Given the description of an element on the screen output the (x, y) to click on. 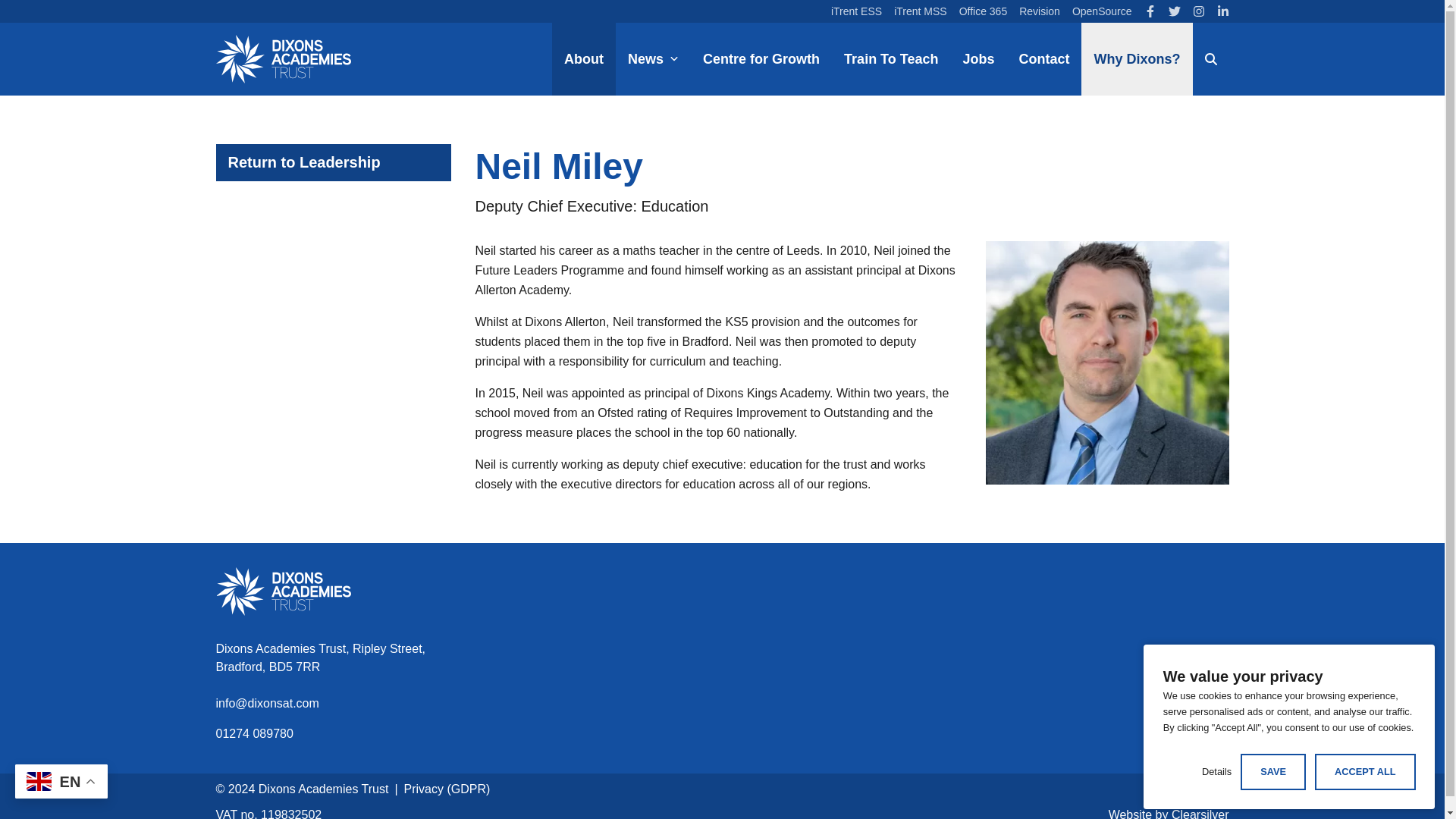
Details (1216, 771)
iTrent MSS (920, 11)
News (652, 58)
Revision (1039, 11)
iTrent ESS (856, 11)
Train To Teach (890, 58)
Office 365 (983, 11)
SAVE (1273, 771)
Return to Leadership (332, 162)
ACCEPT ALL (1364, 771)
